Given the description of an element on the screen output the (x, y) to click on. 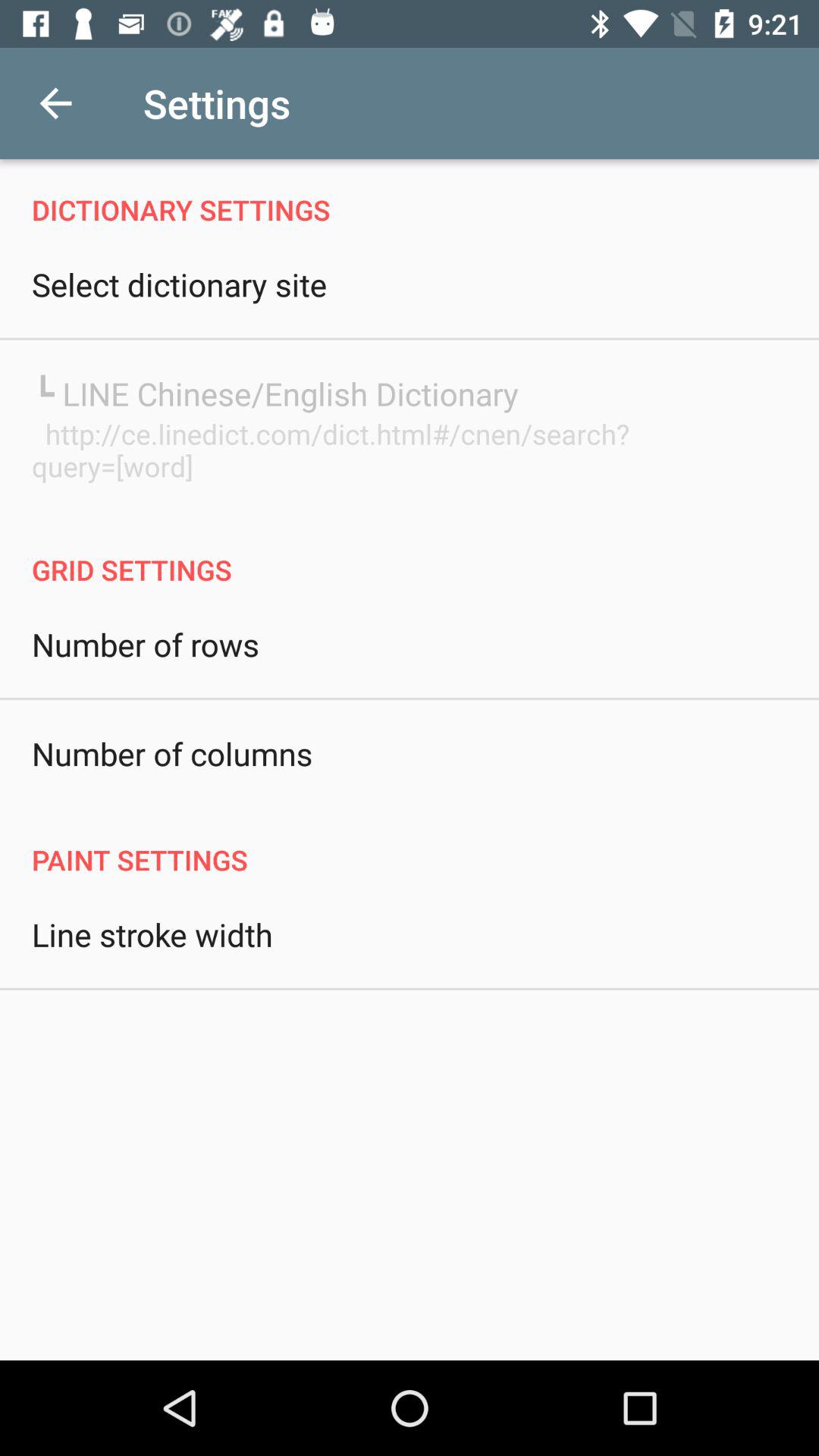
open the paint settings icon (409, 843)
